Given the description of an element on the screen output the (x, y) to click on. 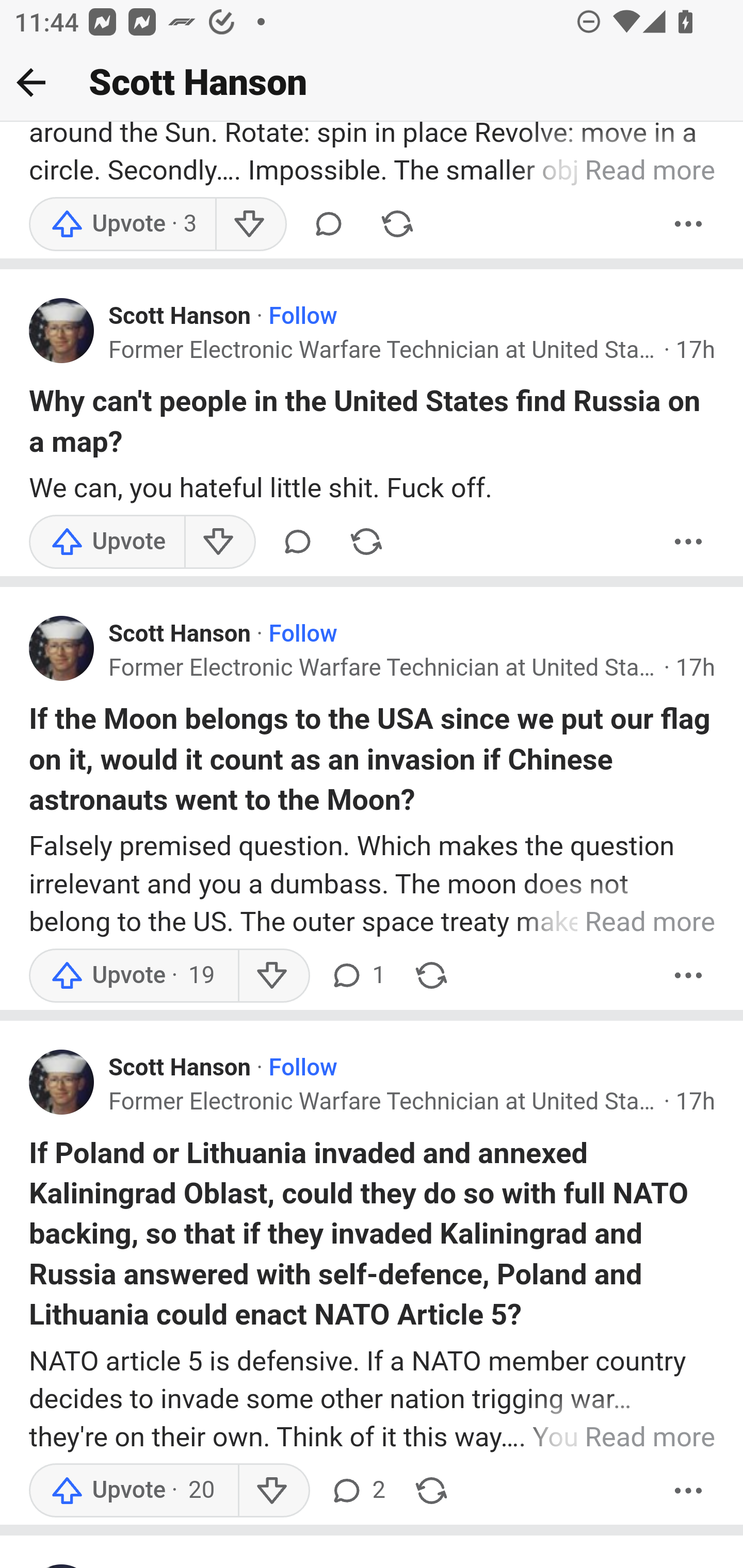
Back Scott Hanson (371, 82)
Back (30, 82)
Upvote (122, 224)
Downvote (249, 224)
Comment (328, 224)
Share (397, 224)
More (688, 224)
Profile photo for Scott Hanson (61, 329)
Scott Hanson (180, 316)
Follow (302, 316)
17h 17 h (695, 350)
We can, you hateful little shit. Fuck off. (372, 488)
Upvote (106, 540)
Downvote (219, 540)
Comment (297, 540)
Share (366, 540)
More (688, 540)
Profile photo for Scott Hanson (61, 648)
Scott Hanson (180, 634)
Follow (302, 634)
17h 17 h (695, 668)
Upvote (133, 975)
Downvote (273, 975)
1 comment (357, 975)
Share (430, 975)
More (688, 975)
Profile photo for Scott Hanson (61, 1081)
Scott Hanson (180, 1067)
Follow (302, 1067)
17h 17 h (695, 1101)
Upvote (133, 1490)
Downvote (273, 1490)
2 comments (357, 1490)
Share (430, 1490)
More (688, 1490)
